Given the description of an element on the screen output the (x, y) to click on. 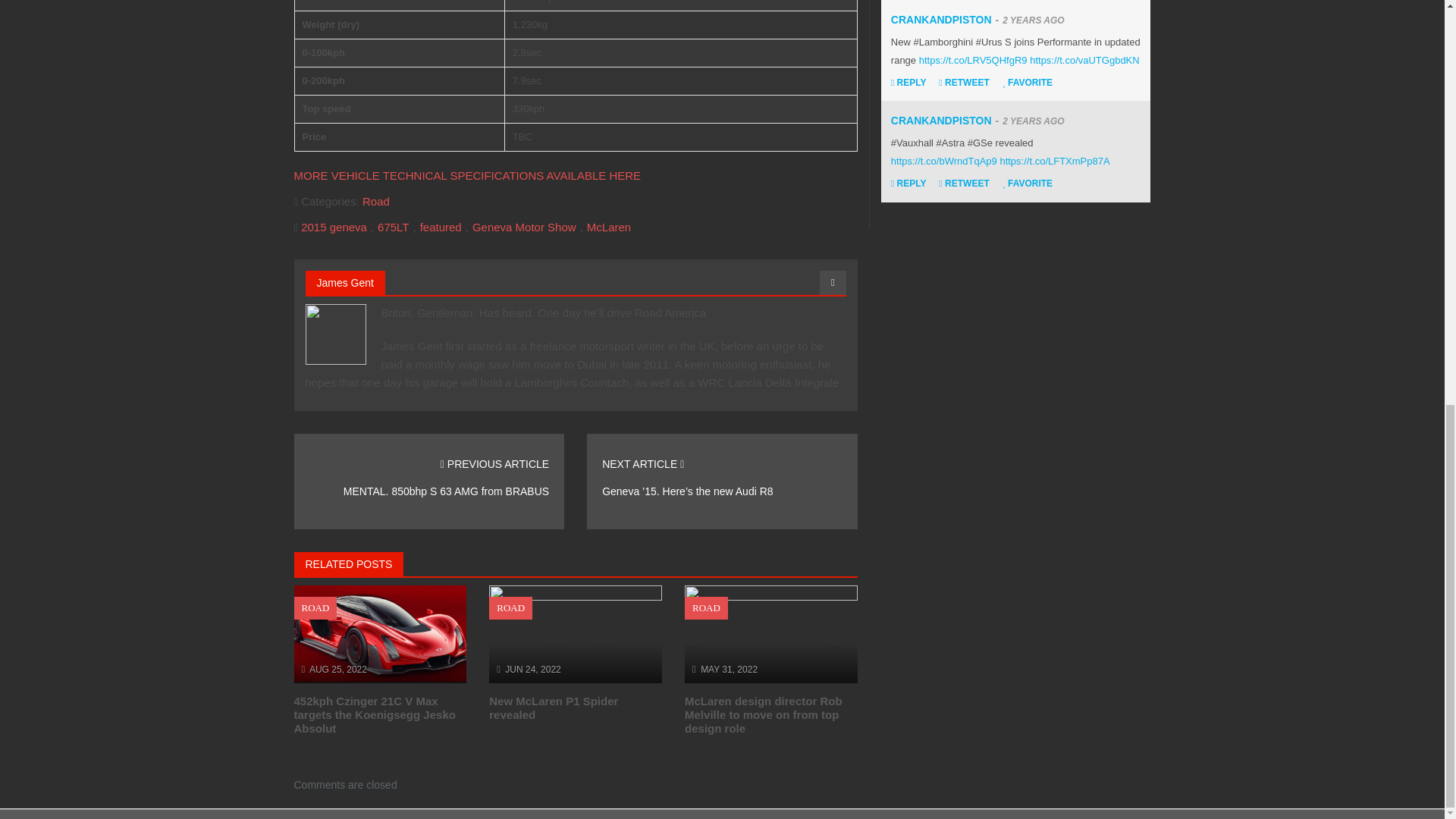
Thursday, August 25, 2022, 4:35 pm (337, 669)
2015 geneva (333, 226)
McLaren (608, 226)
MORE VEHICLE TECHNICAL SPECIFICATIONS AVAILABLE HERE (468, 174)
James Gent (345, 282)
Road (376, 201)
Friday, June 24, 2022, 10:02 am (532, 669)
Geneva Motor Show (523, 226)
